Given the description of an element on the screen output the (x, y) to click on. 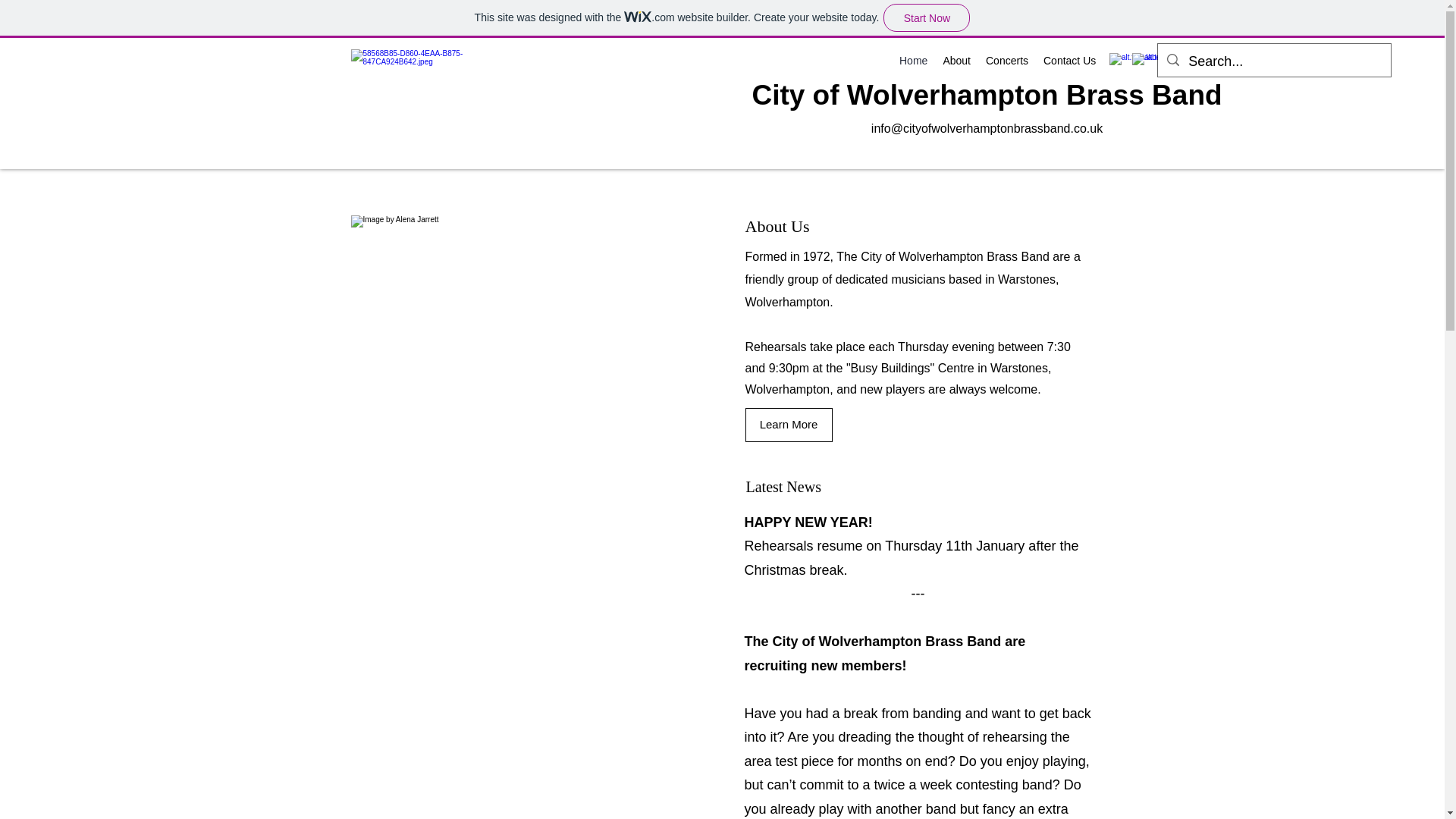
Concerts (1006, 60)
About (956, 60)
Contact Us (1069, 60)
Home (912, 60)
Learn More (787, 424)
